Given the description of an element on the screen output the (x, y) to click on. 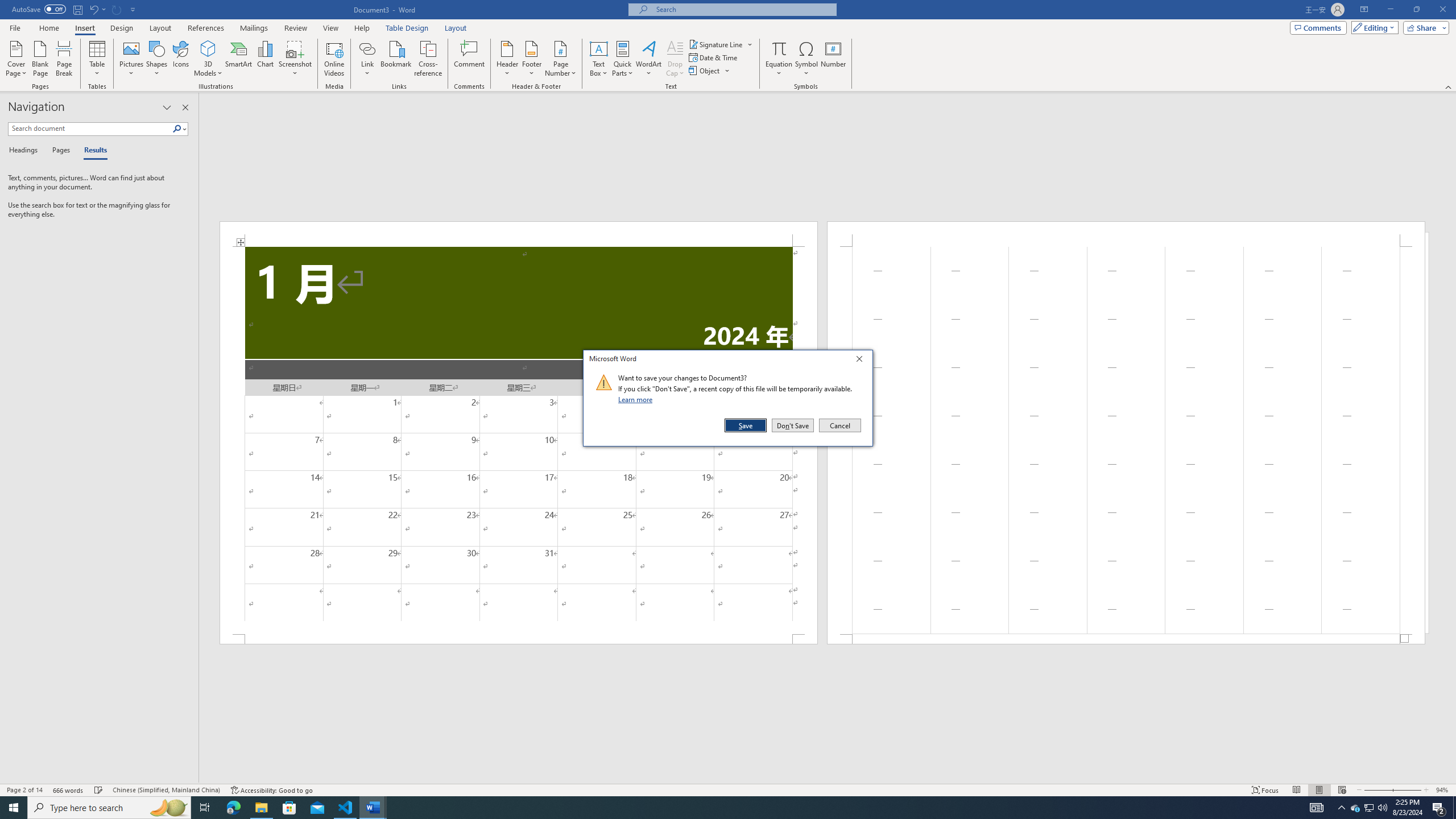
Undo Apply Quick Style (96, 9)
Microsoft Store (289, 807)
Header (507, 58)
Comment (469, 58)
Icons (180, 58)
Bookmark... (396, 58)
Visual Studio Code - 1 running window (345, 807)
Type here to search (108, 807)
